Given the description of an element on the screen output the (x, y) to click on. 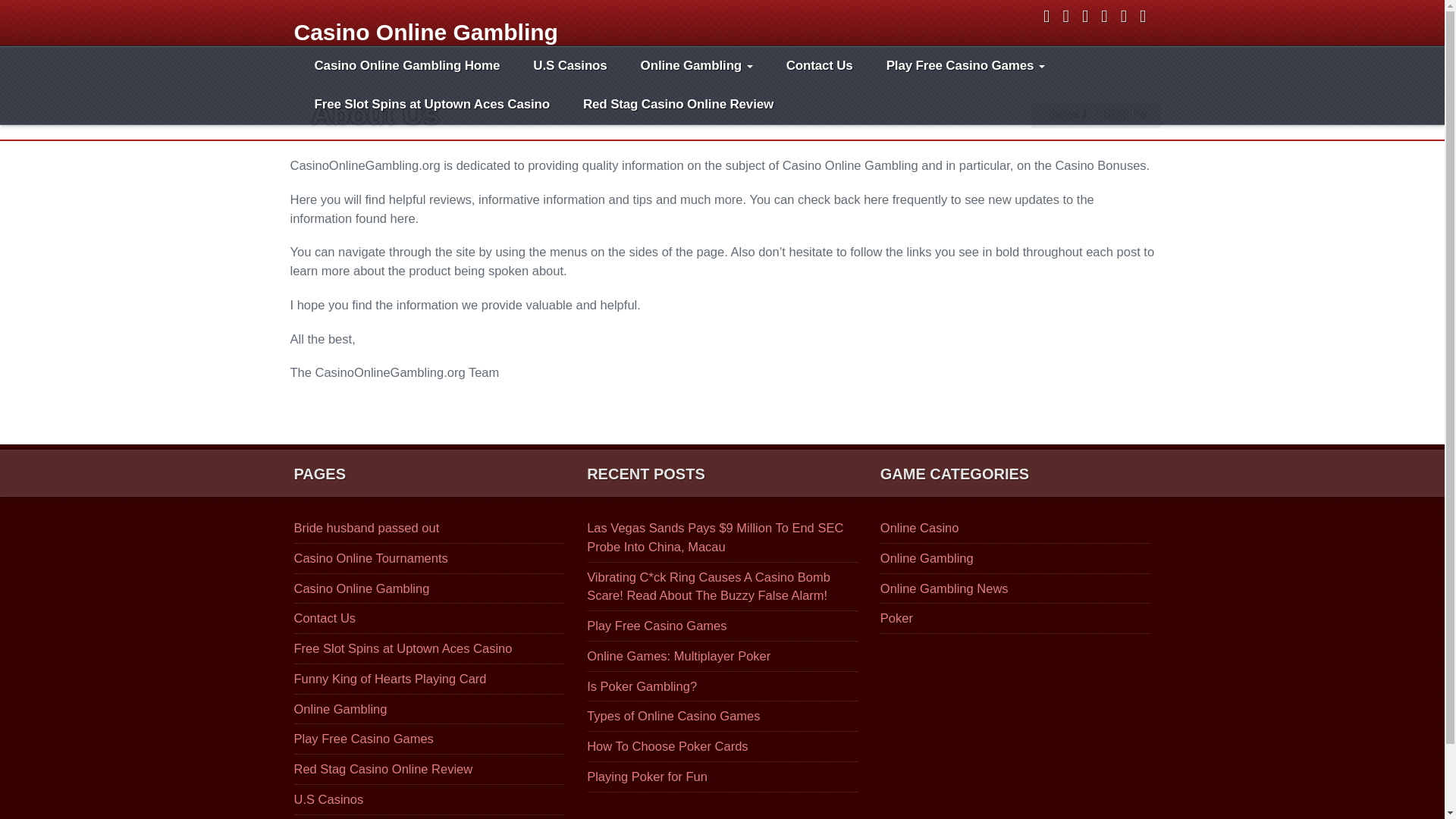
Play Free Casino Games (965, 65)
Casino Online Gambling (361, 587)
Casino Online Gambling (421, 20)
Red Stag Casino Online Review (678, 104)
Red Stag Casino Online Review (678, 104)
U.S Casinos (329, 798)
Types of Online Casino Games (673, 715)
Playing Poker for Fun (646, 775)
U.S Casinos (569, 65)
Casino Online Gambling (421, 20)
